Given the description of an element on the screen output the (x, y) to click on. 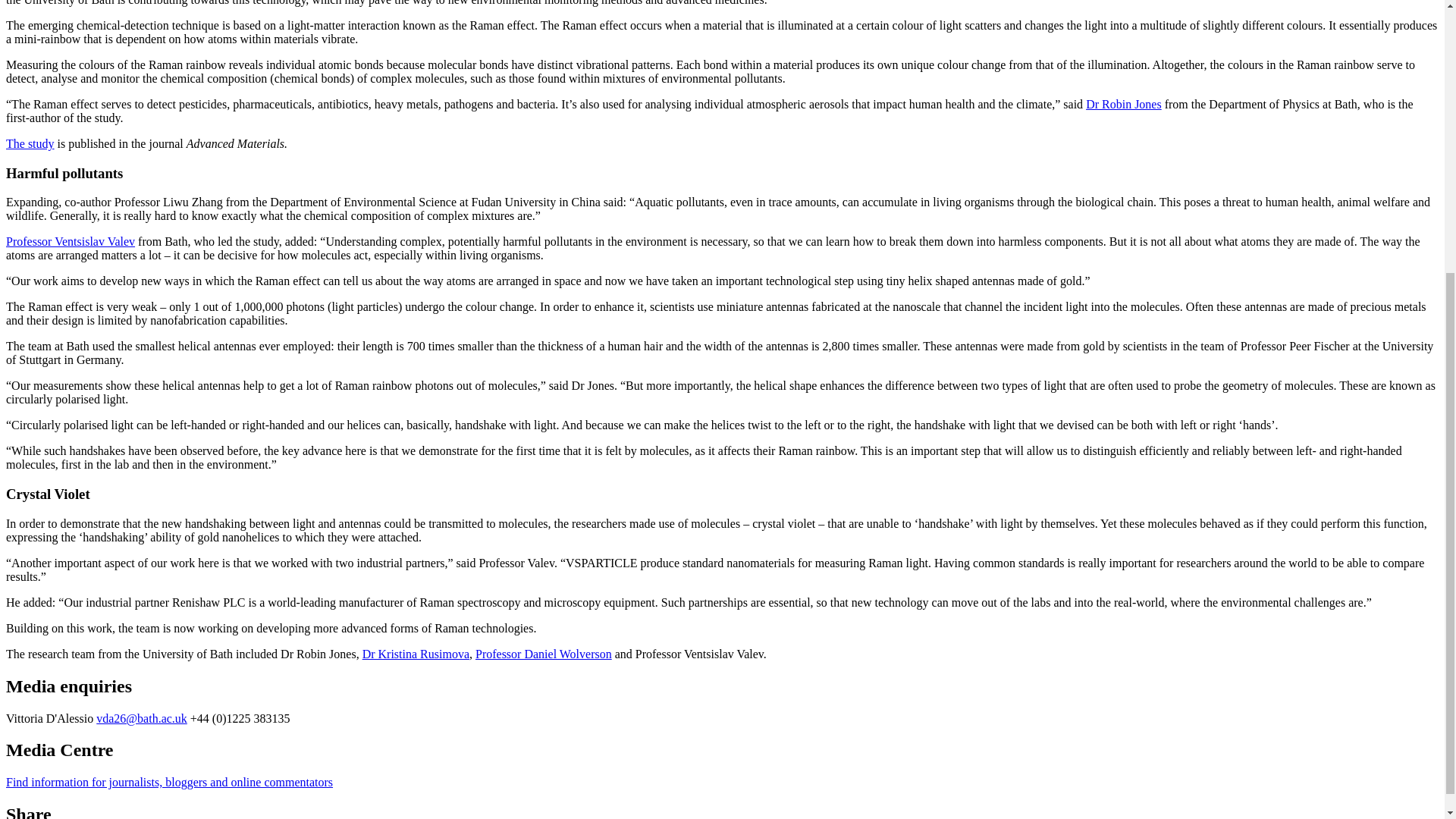
Professor Ventsislav Valev (70, 241)
Professor Daniel Wolverson (543, 653)
Dr Robin Jones (1123, 103)
Dr Kristina Rusimova (415, 653)
The study (30, 143)
